Given the description of an element on the screen output the (x, y) to click on. 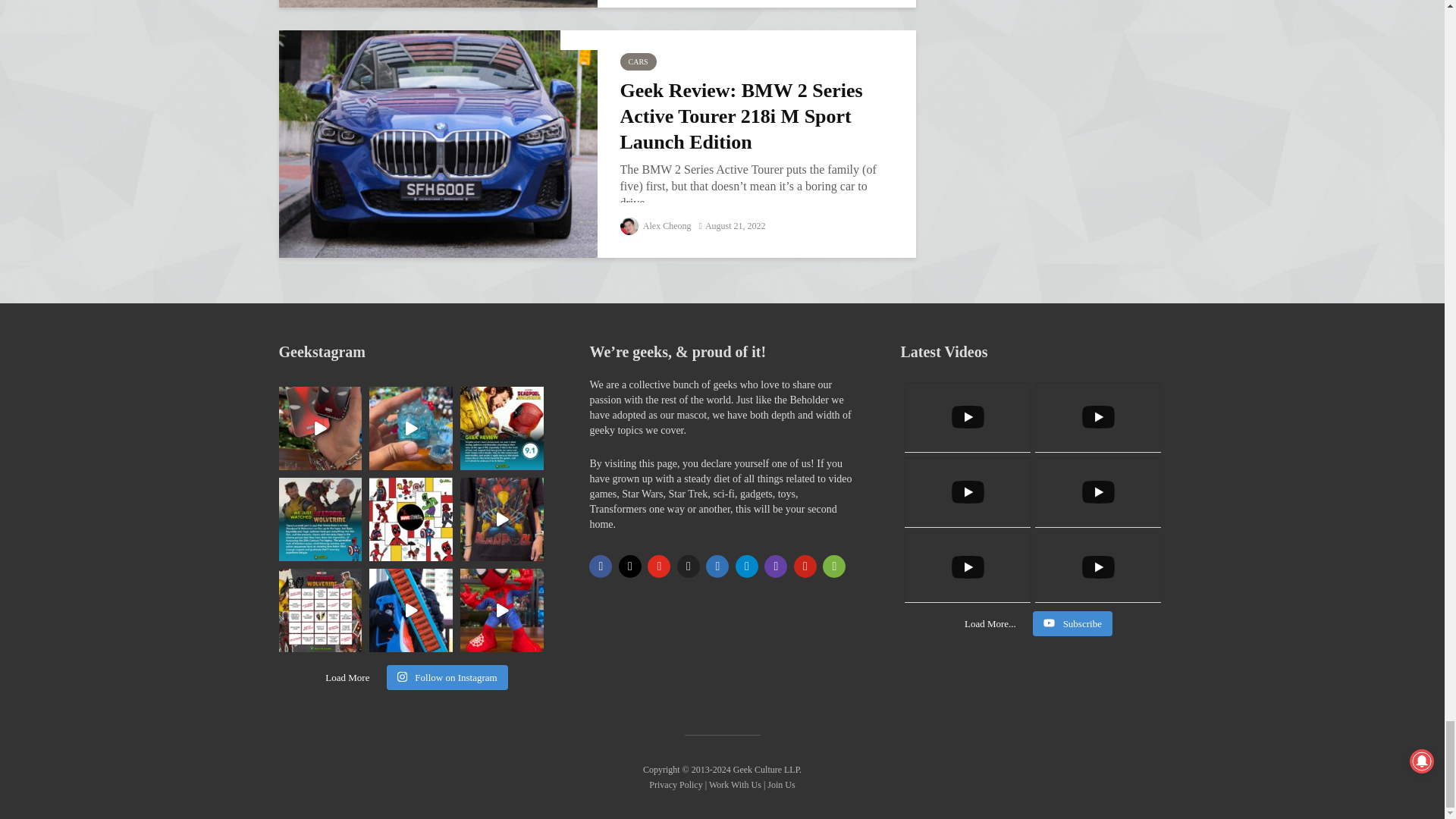
Geek Review: BMW X1 sDrive16i xLine (437, 3)
